Given the description of an element on the screen output the (x, y) to click on. 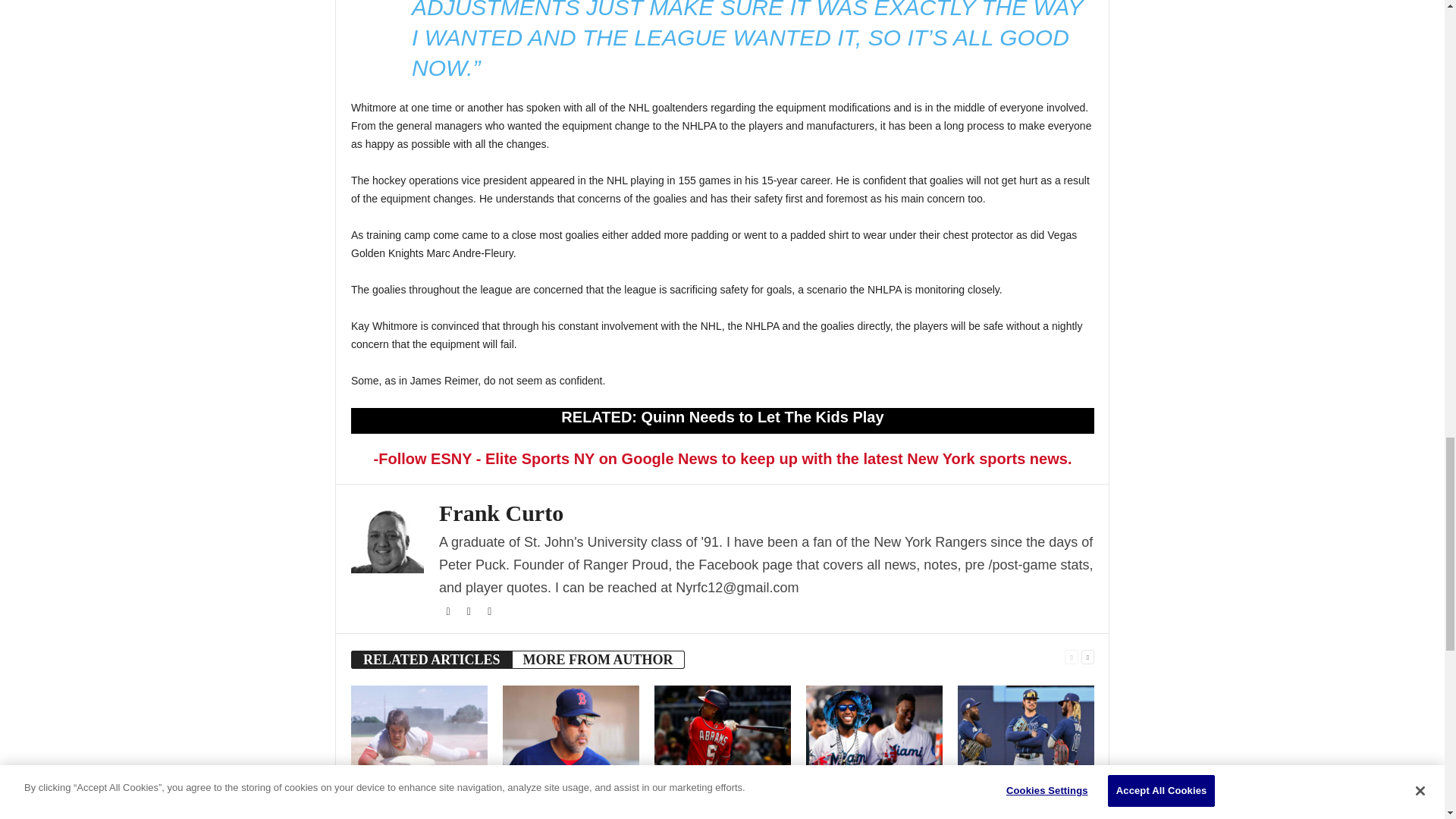
Instagram (489, 611)
Facebook (449, 611)
Twitter (470, 611)
